Given the description of an element on the screen output the (x, y) to click on. 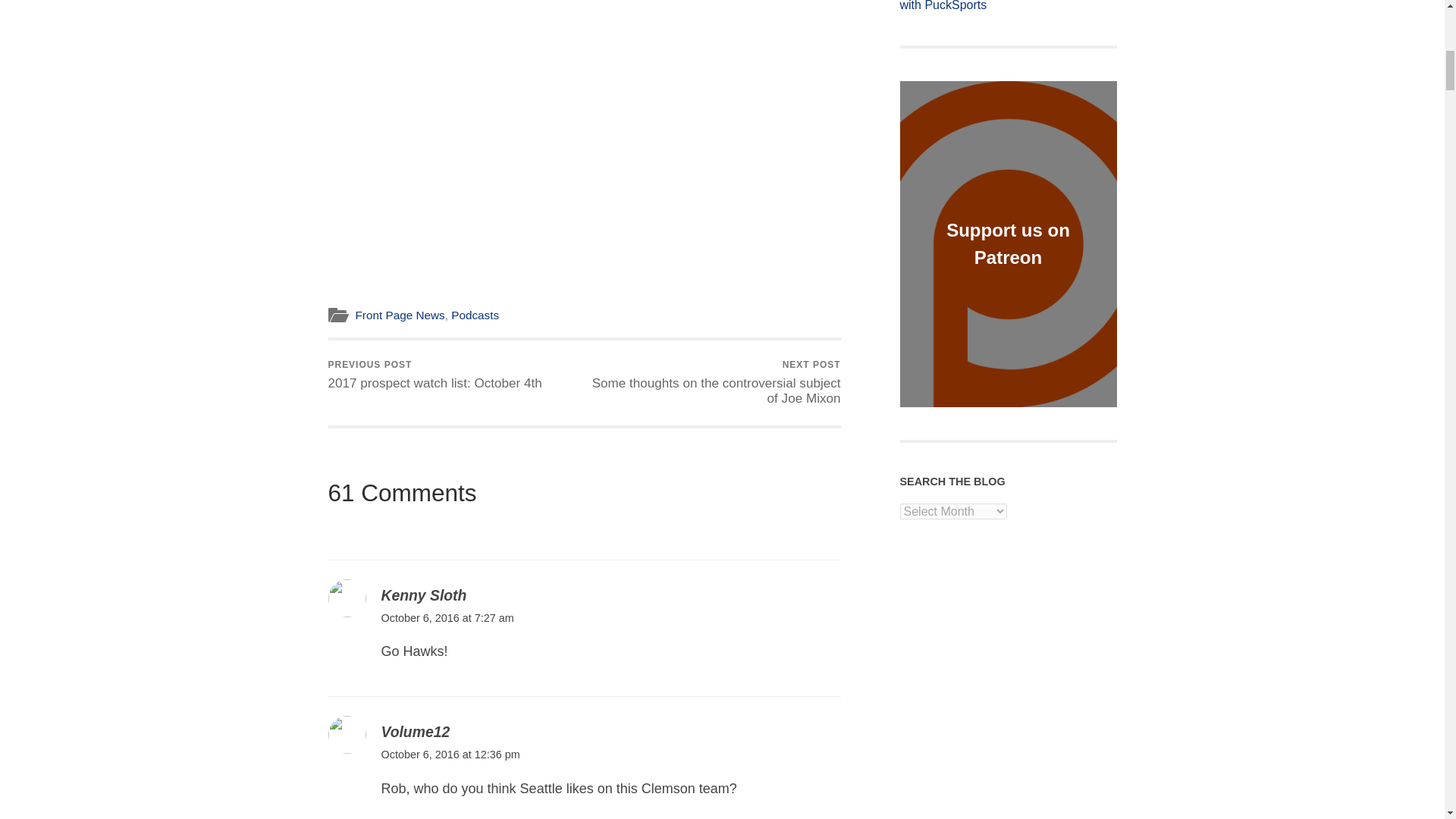
Support us on Patreon (1008, 243)
Podcasts (475, 314)
Check out my latest Thursday show with PuckSports (1007, 6)
Front Page News (399, 314)
October 6, 2016 at 7:27 am (446, 617)
October 6, 2016 at 12:36 pm (449, 754)
